Given the description of an element on the screen output the (x, y) to click on. 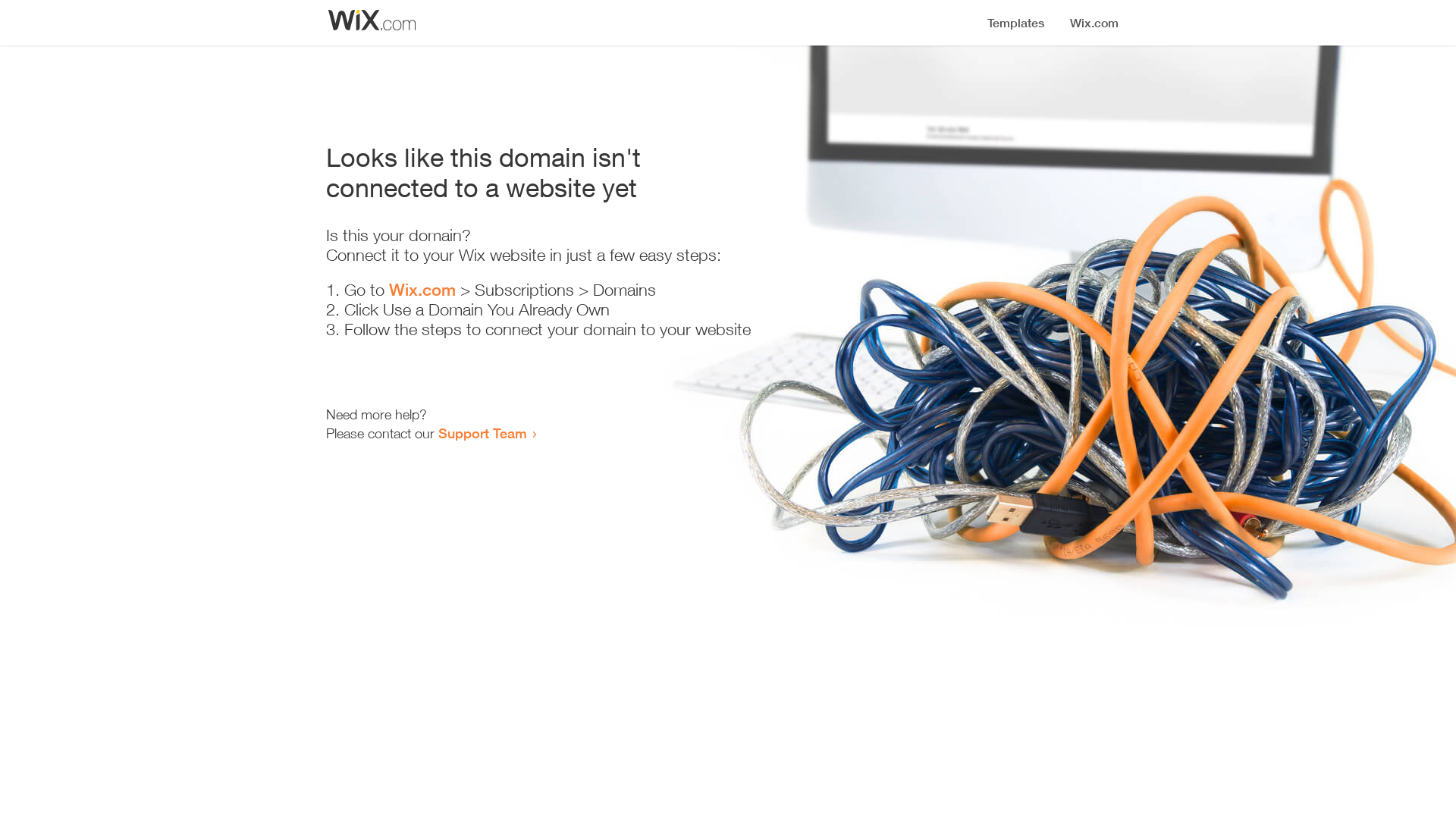
Support Team Element type: text (482, 432)
Wix.com Element type: text (422, 289)
